Given the description of an element on the screen output the (x, y) to click on. 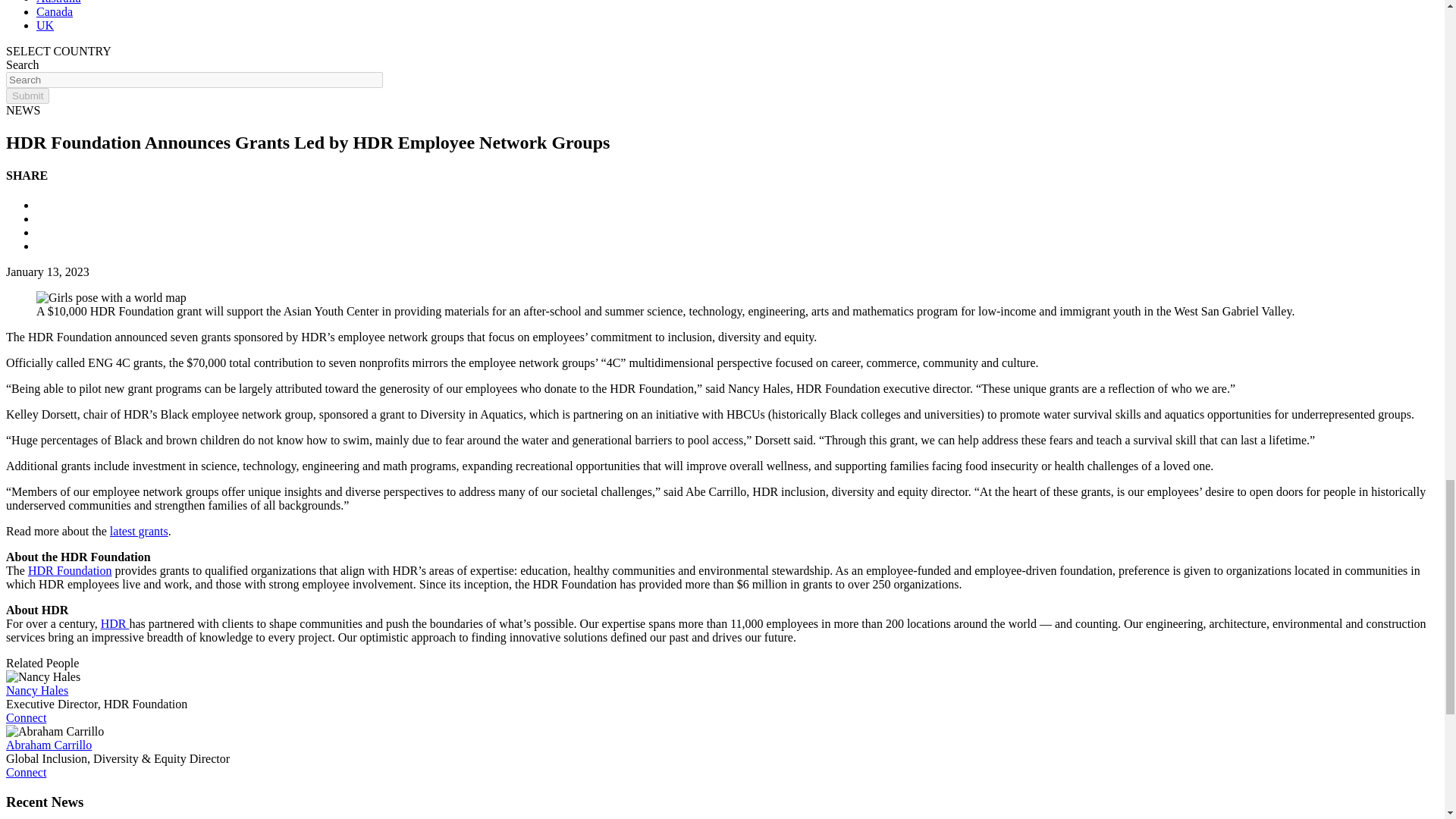
Submit (27, 95)
